Given the description of an element on the screen output the (x, y) to click on. 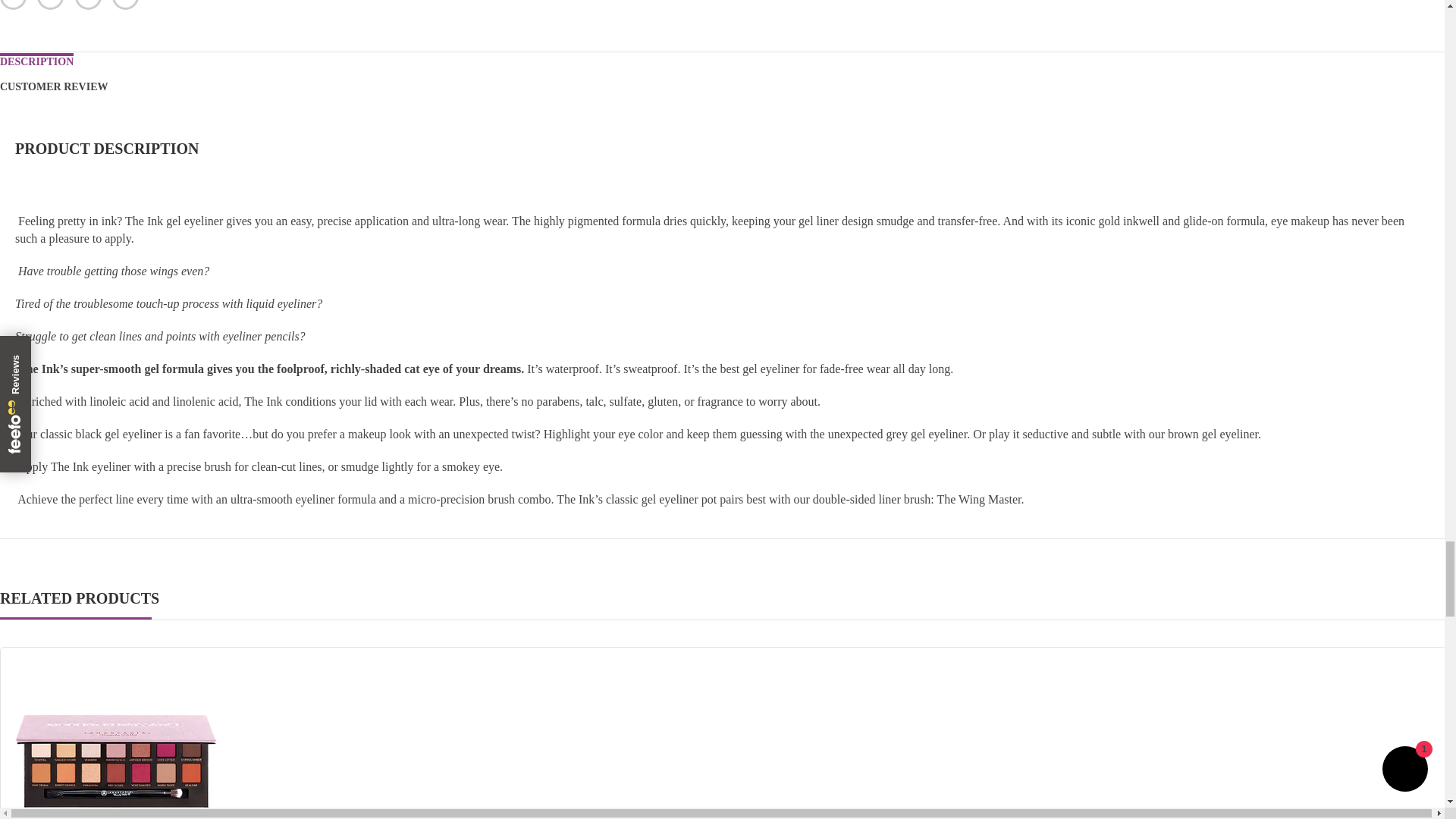
Share on Facebook (13, 4)
Share on Twitter (50, 4)
Pin on Pinterest (88, 4)
